Given the description of an element on the screen output the (x, y) to click on. 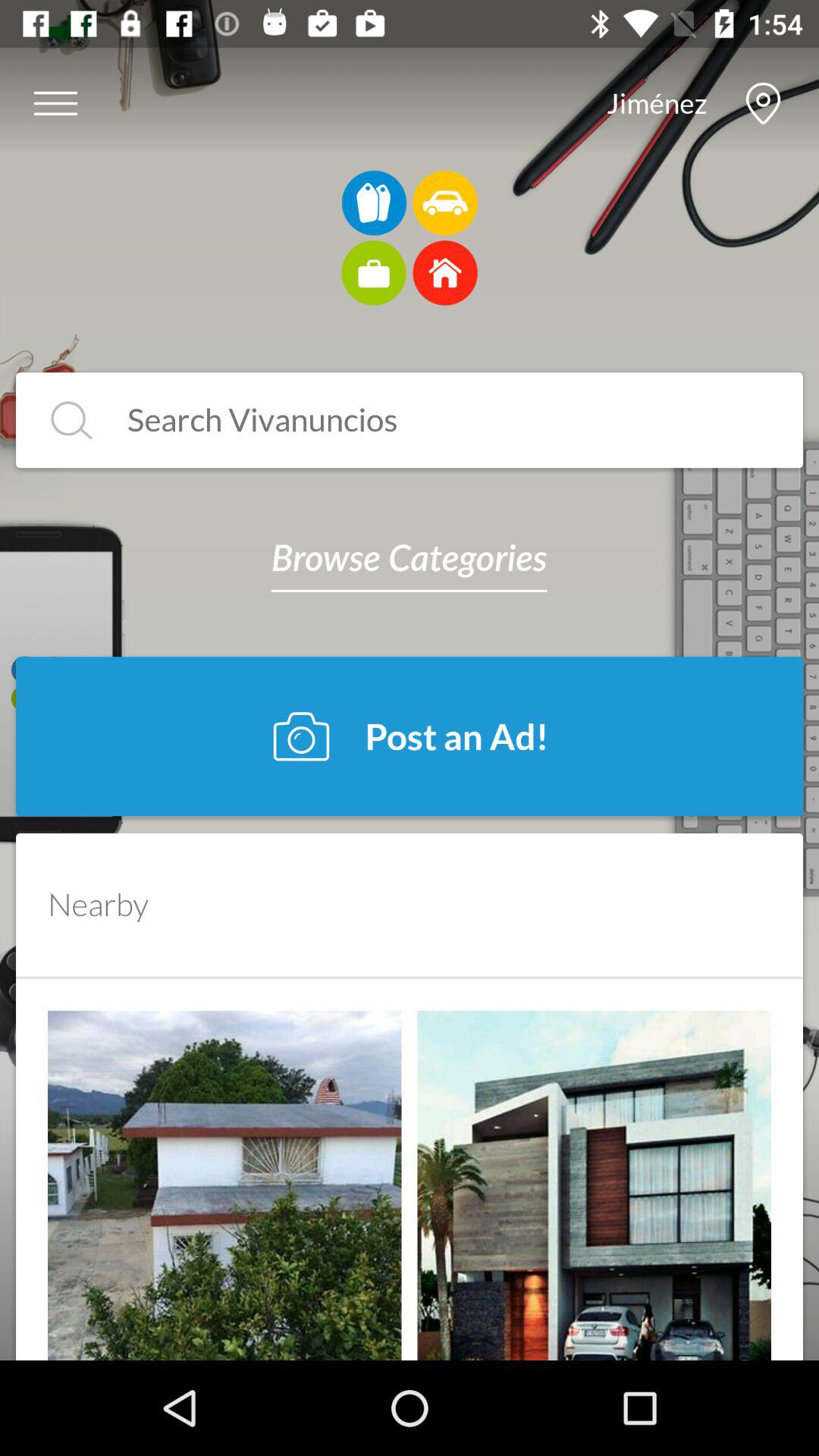
search field (71, 420)
